Given the description of an element on the screen output the (x, y) to click on. 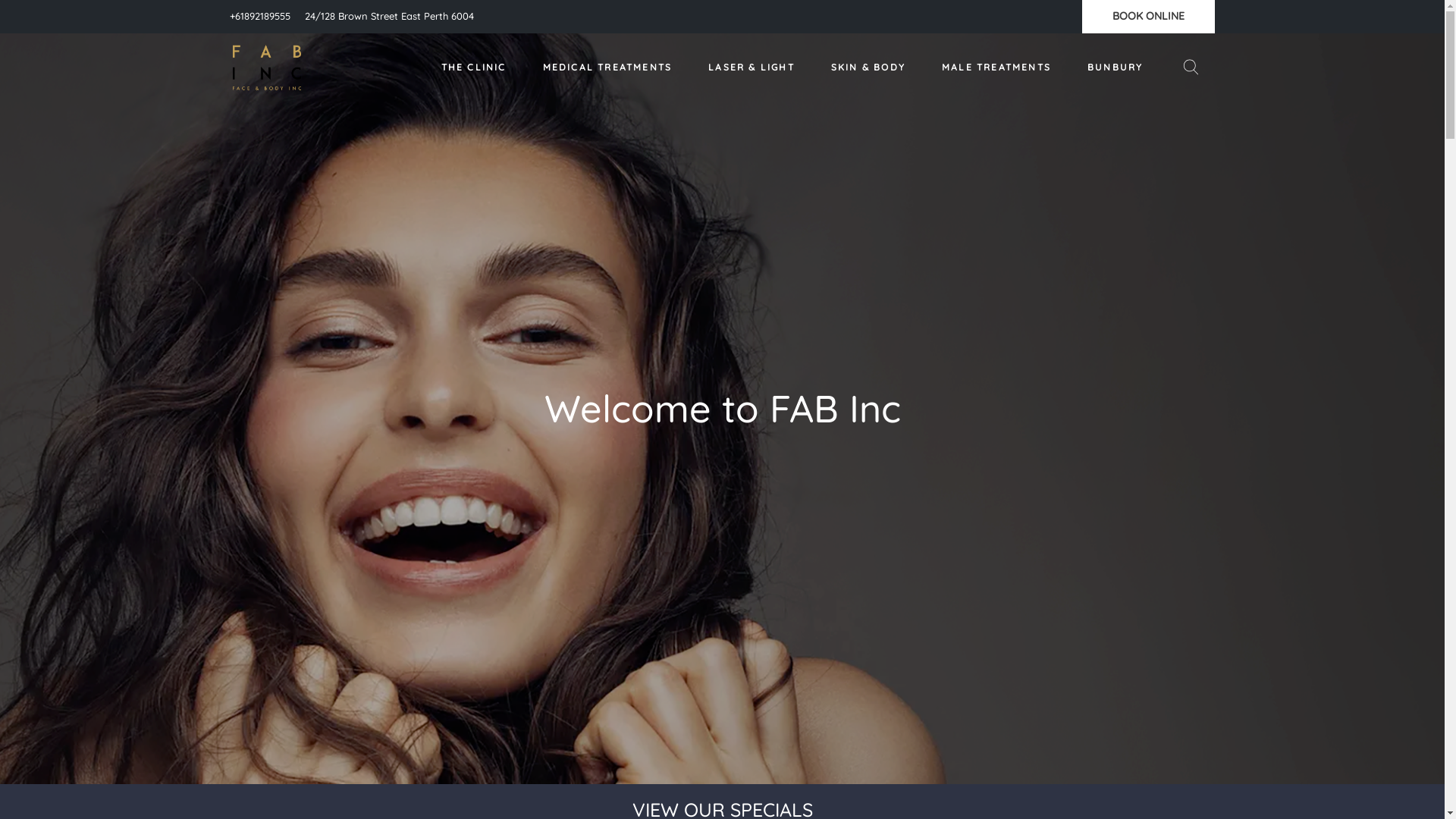
BUNBURY Element type: text (1115, 67)
THE CLINIC Element type: text (473, 67)
+61892189555 Element type: text (260, 15)
LASER & LIGHT Element type: text (751, 67)
MEDICAL TREATMENTS Element type: text (607, 67)
BOOK ONLINE Element type: text (1148, 15)
SKIN & BODY Element type: text (867, 67)
MALE TREATMENTS Element type: text (996, 67)
24/128 Brown Street East Perth 6004 Element type: text (388, 15)
